Given the description of an element on the screen output the (x, y) to click on. 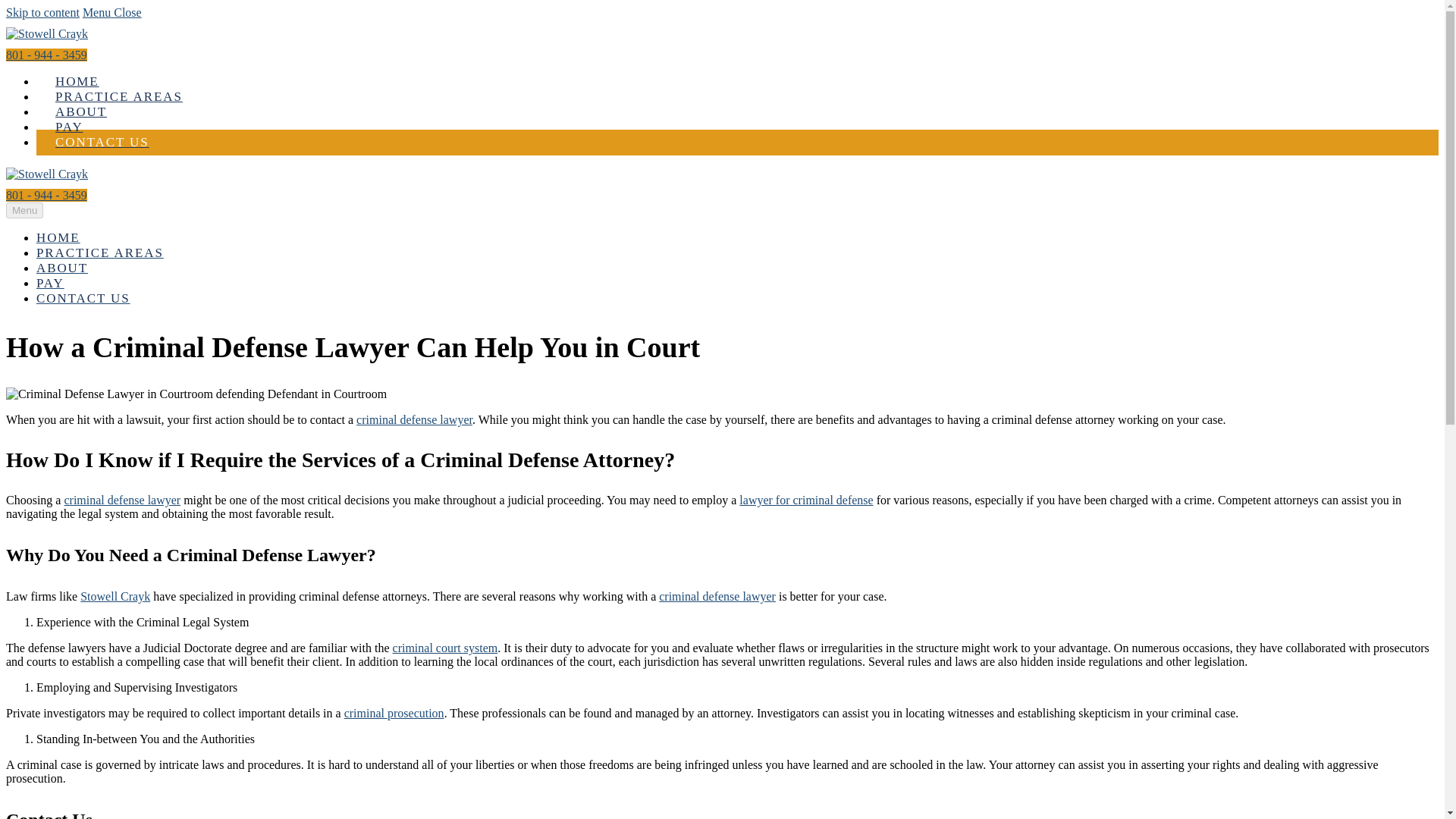
lawyer for criminal defense (805, 499)
HOME (76, 81)
criminal court system (445, 647)
criminal defense lawyer (717, 595)
PRACTICE AREAS (99, 252)
ABOUT (80, 111)
Stowell Crayk (114, 595)
Menu Close (111, 11)
CONTACT US (102, 142)
801 - 944 - 3459 (46, 195)
ABOUT (61, 268)
801 - 944 - 3459 (46, 54)
criminal defense lawyer (122, 499)
Skip to content (42, 11)
HOME (58, 237)
